Given the description of an element on the screen output the (x, y) to click on. 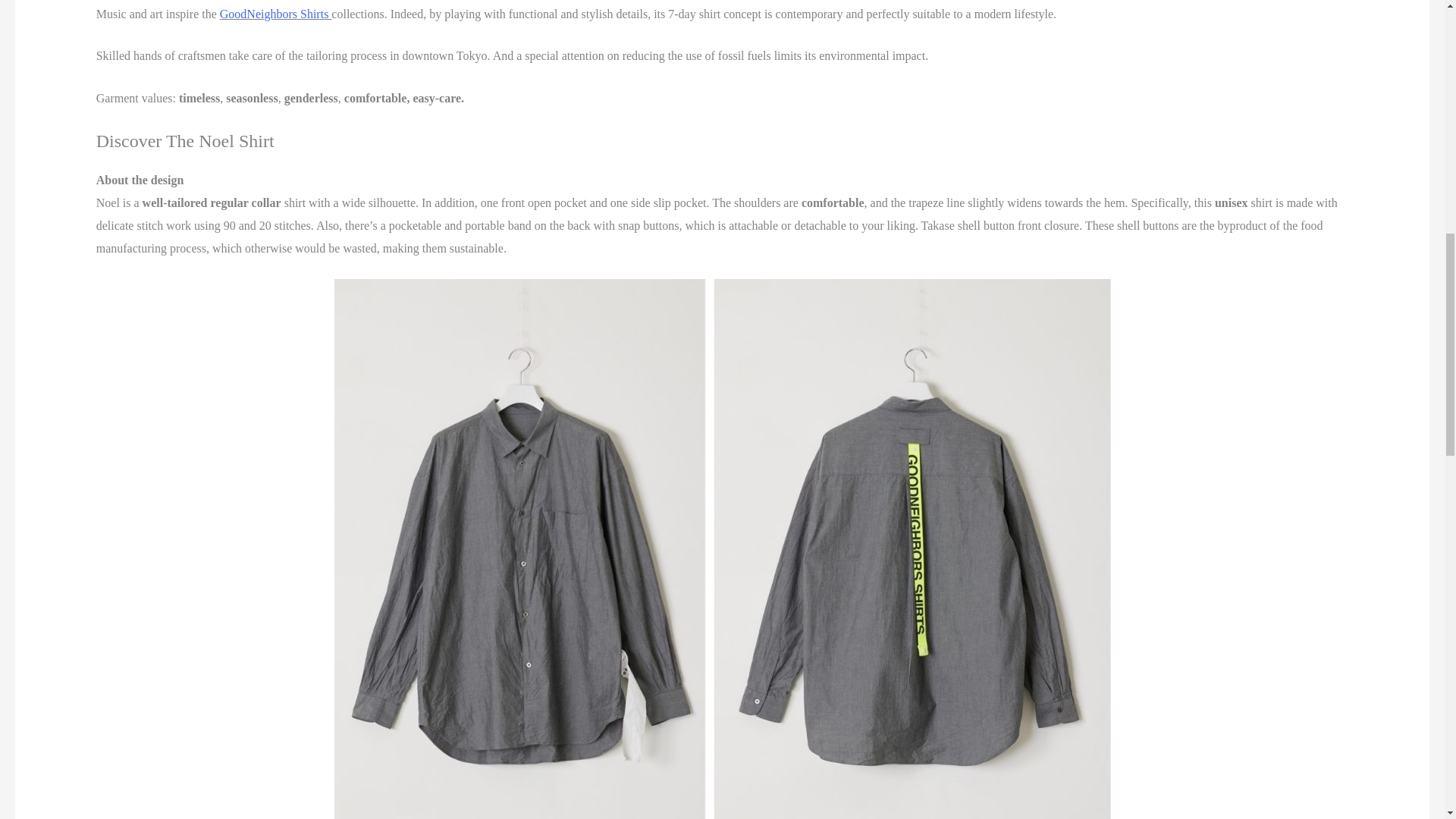
GoodNeighbors Shirts (275, 13)
